Given the description of an element on the screen output the (x, y) to click on. 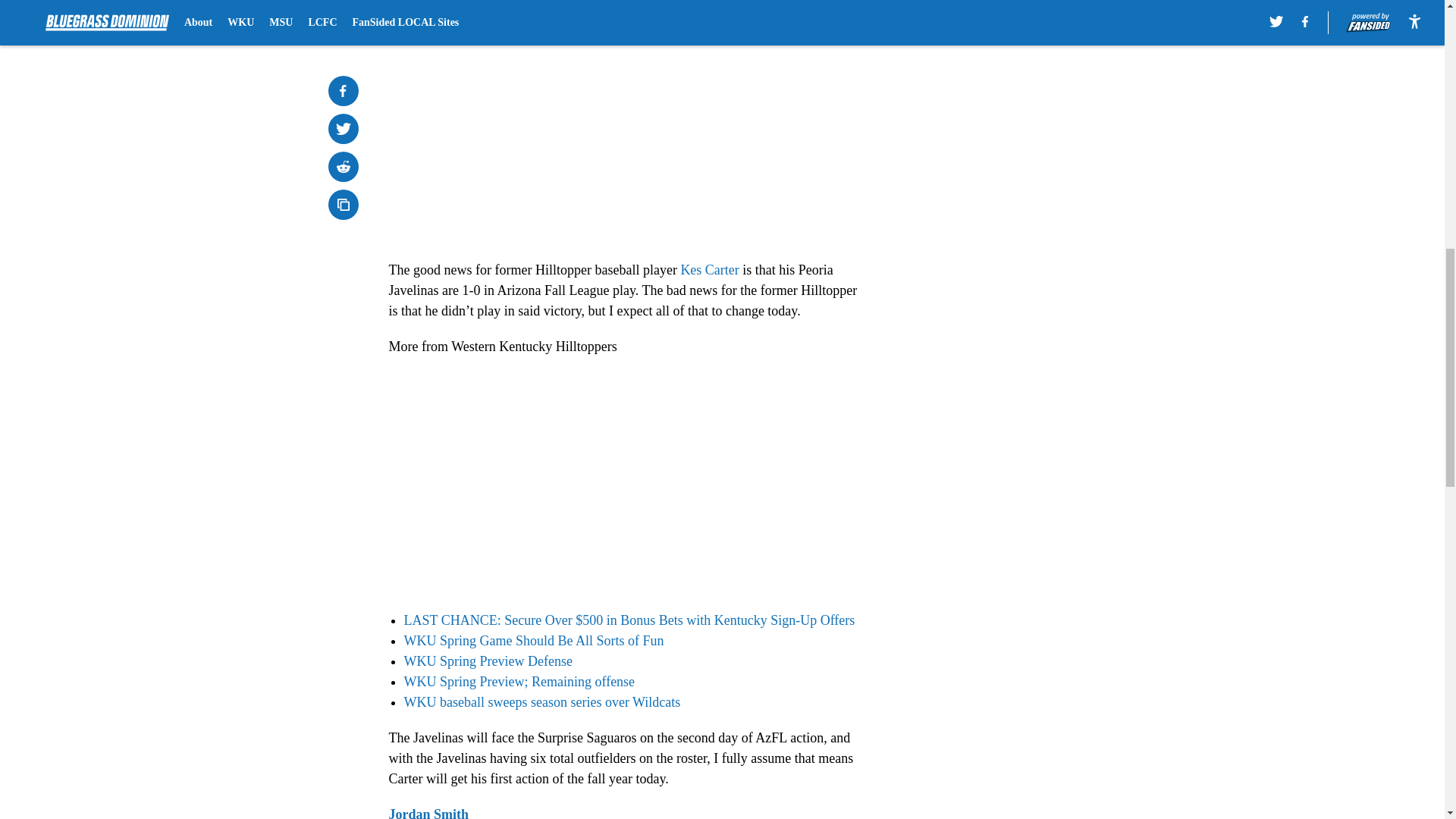
WKU Spring Game Should Be All Sorts of Fun (533, 640)
Kes Carter (708, 269)
WKU Spring Preview; Remaining offense (518, 681)
Jordan Smith (428, 812)
WKU Spring Preview Defense (487, 661)
WKU baseball sweeps season series over Wildcats (541, 702)
